Given the description of an element on the screen output the (x, y) to click on. 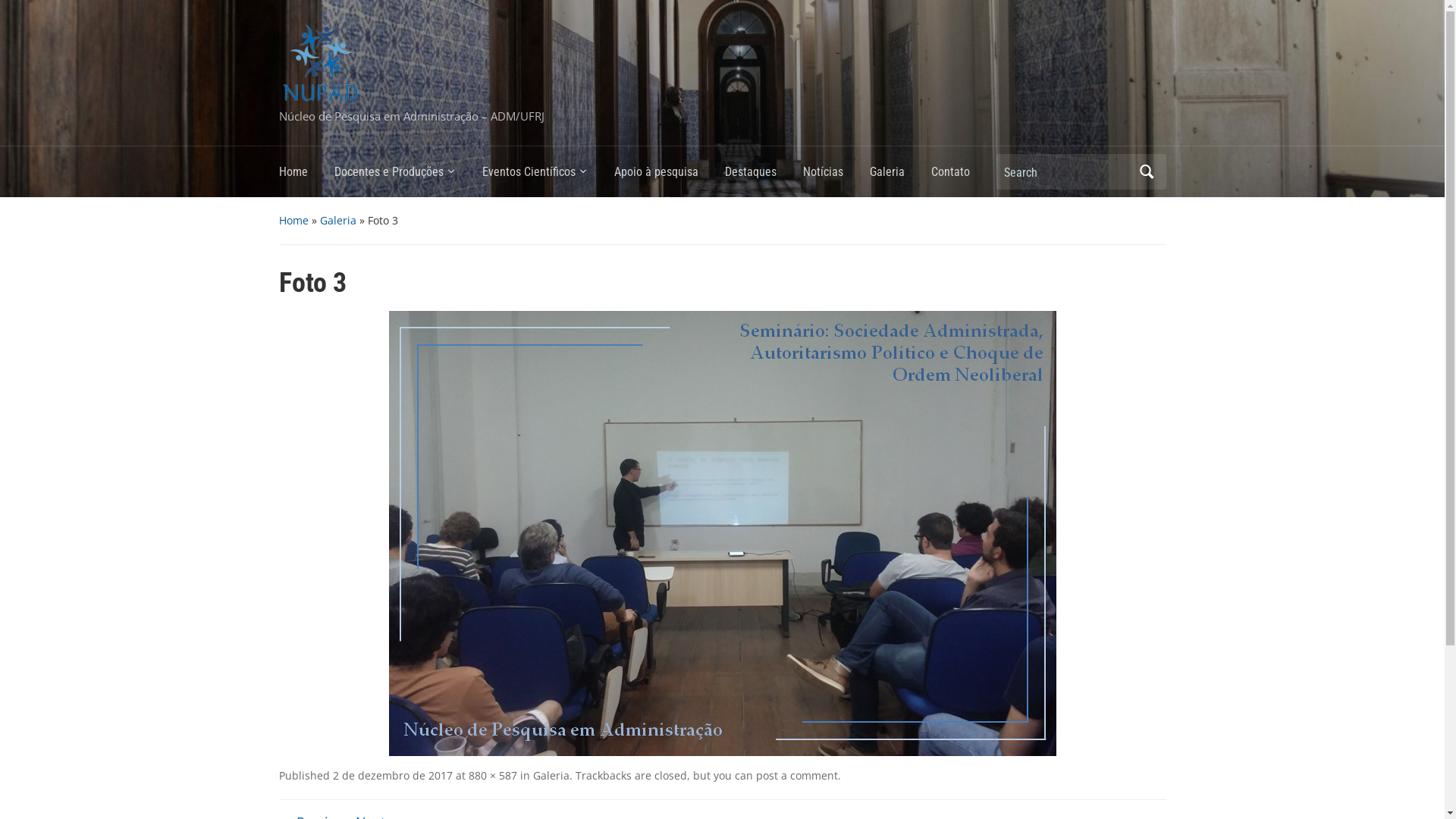
Search Element type: text (1146, 171)
post a comment Element type: text (796, 775)
Galeria Element type: text (338, 220)
Galeria Element type: text (899, 175)
Destaques Element type: text (763, 175)
Contato Element type: text (963, 175)
Galeria Element type: text (550, 775)
Home Element type: text (306, 175)
Foto 3 Element type: hover (721, 532)
Home Element type: text (293, 220)
